Given the description of an element on the screen output the (x, y) to click on. 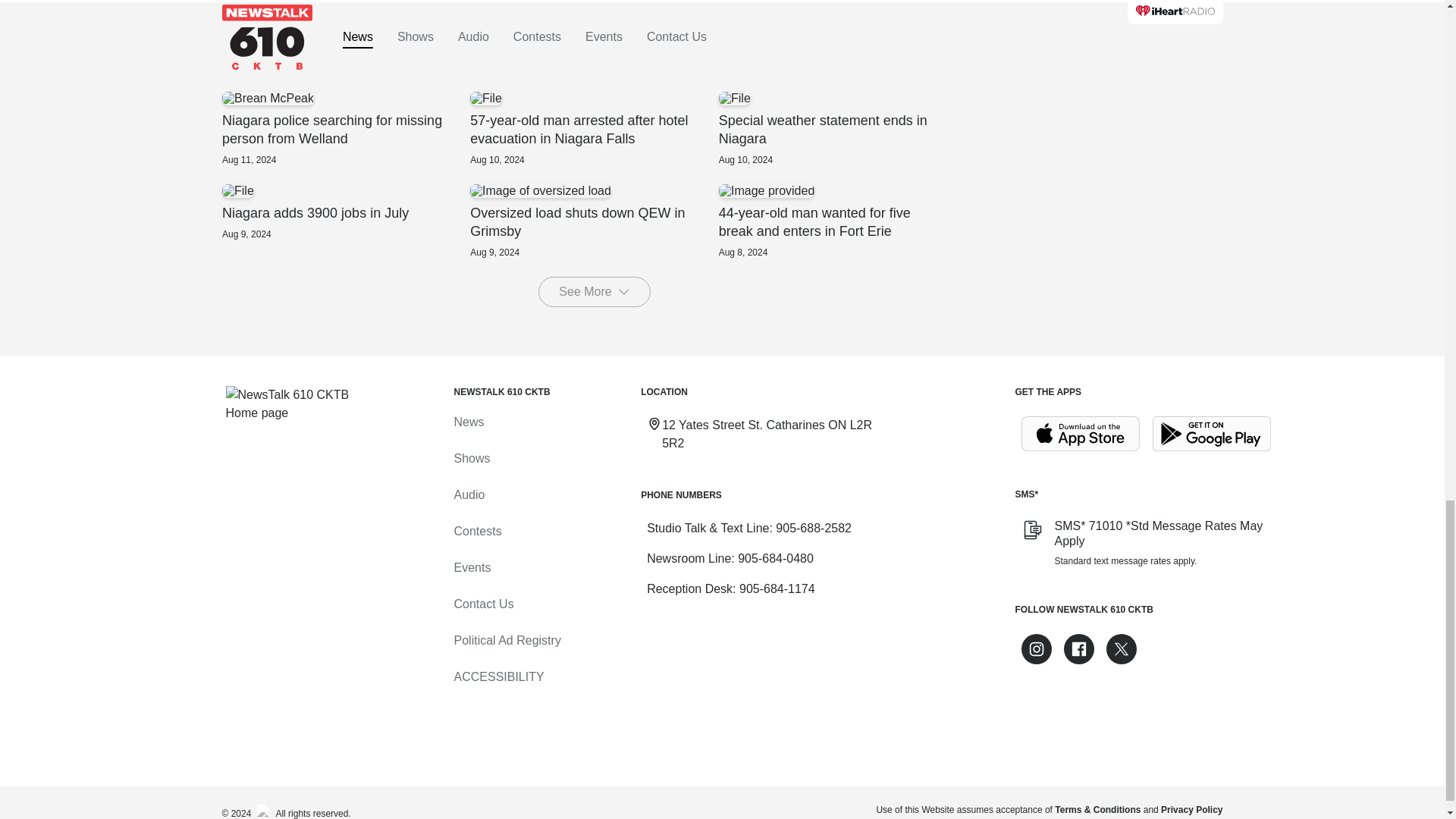
Oversized load shuts down QEW in Grimsby (593, 221)
Niagara police searching for missing person from Welland (344, 128)
Download on the App Store (1080, 434)
905-684-1174 (841, 128)
Get it on Google Play (777, 588)
Contact Us (1212, 434)
